Given the description of an element on the screen output the (x, y) to click on. 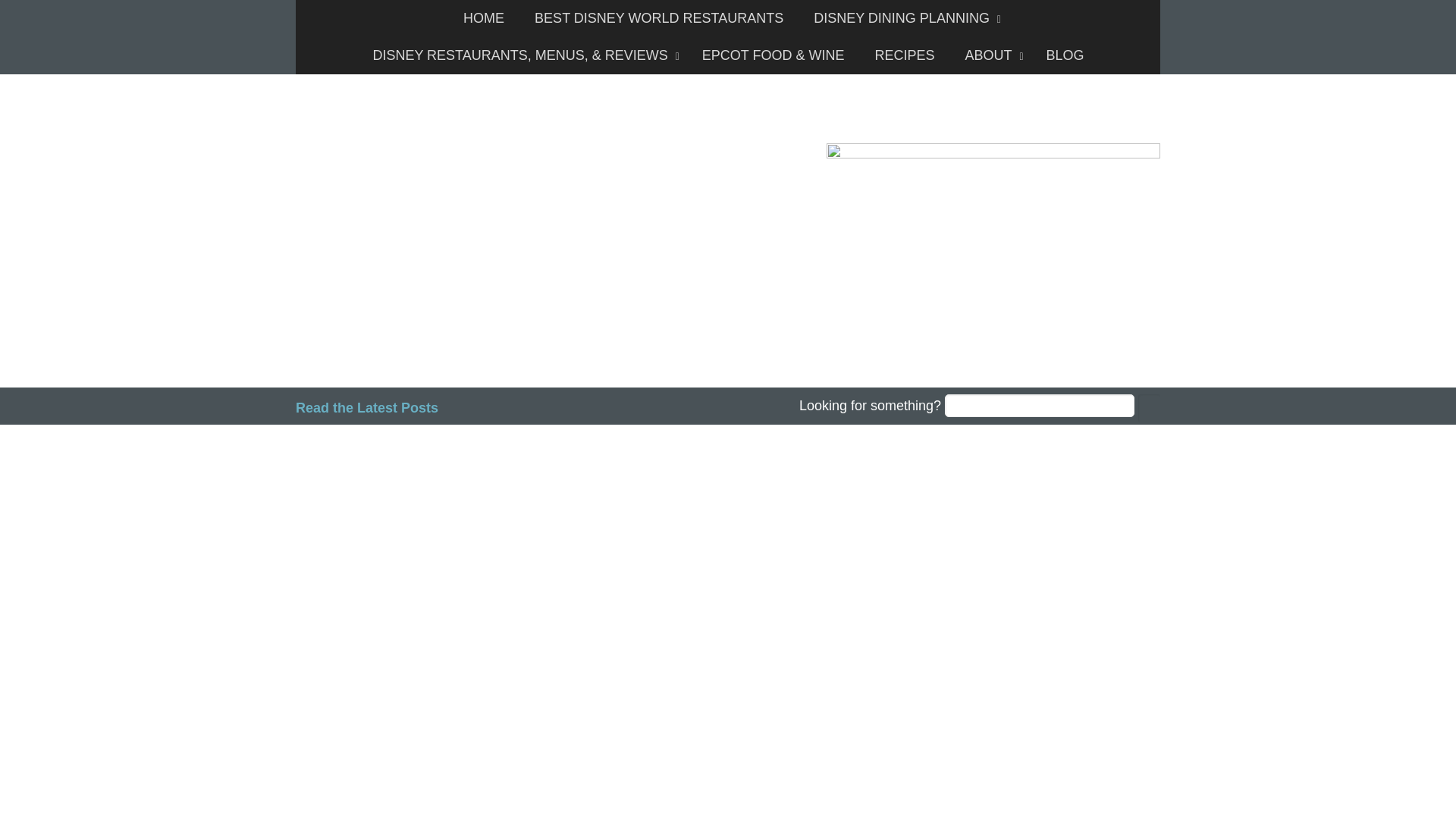
HOME (483, 18)
DISNEY DINING PLANNING (903, 18)
BEST DISNEY WORLD RESTAURANTS (658, 18)
